Given the description of an element on the screen output the (x, y) to click on. 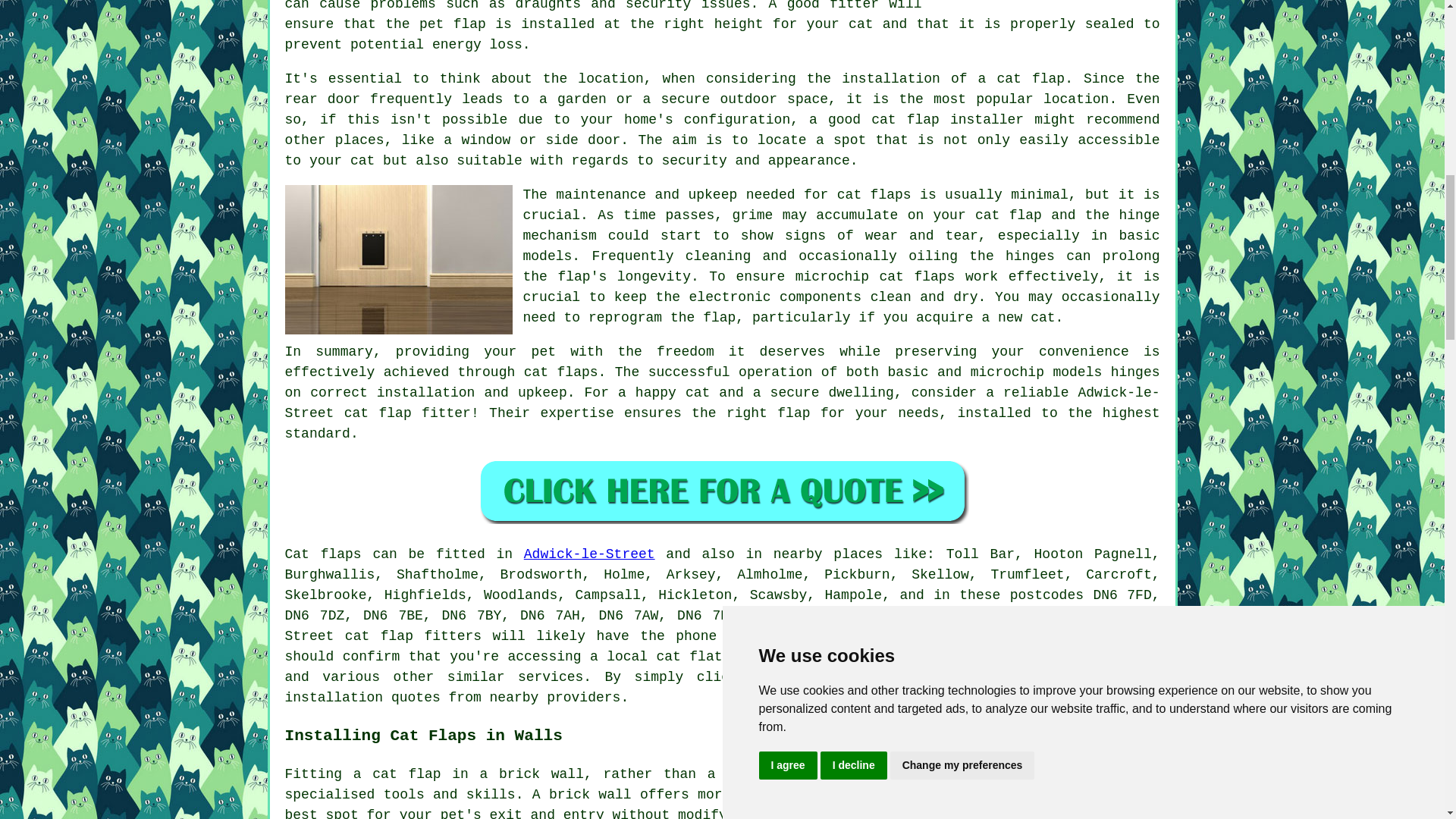
Cat Flap Fitters Adwick-le-Street (398, 259)
a cat flap (397, 774)
cat flaps (874, 194)
cat flap fitter (406, 412)
Adwick-le-Street Cat Flap Fitter Quotes (722, 490)
a cat flap (1021, 78)
cat flap installation (722, 687)
Cat flaps (323, 554)
cat flap fitters (413, 635)
